Given the description of an element on the screen output the (x, y) to click on. 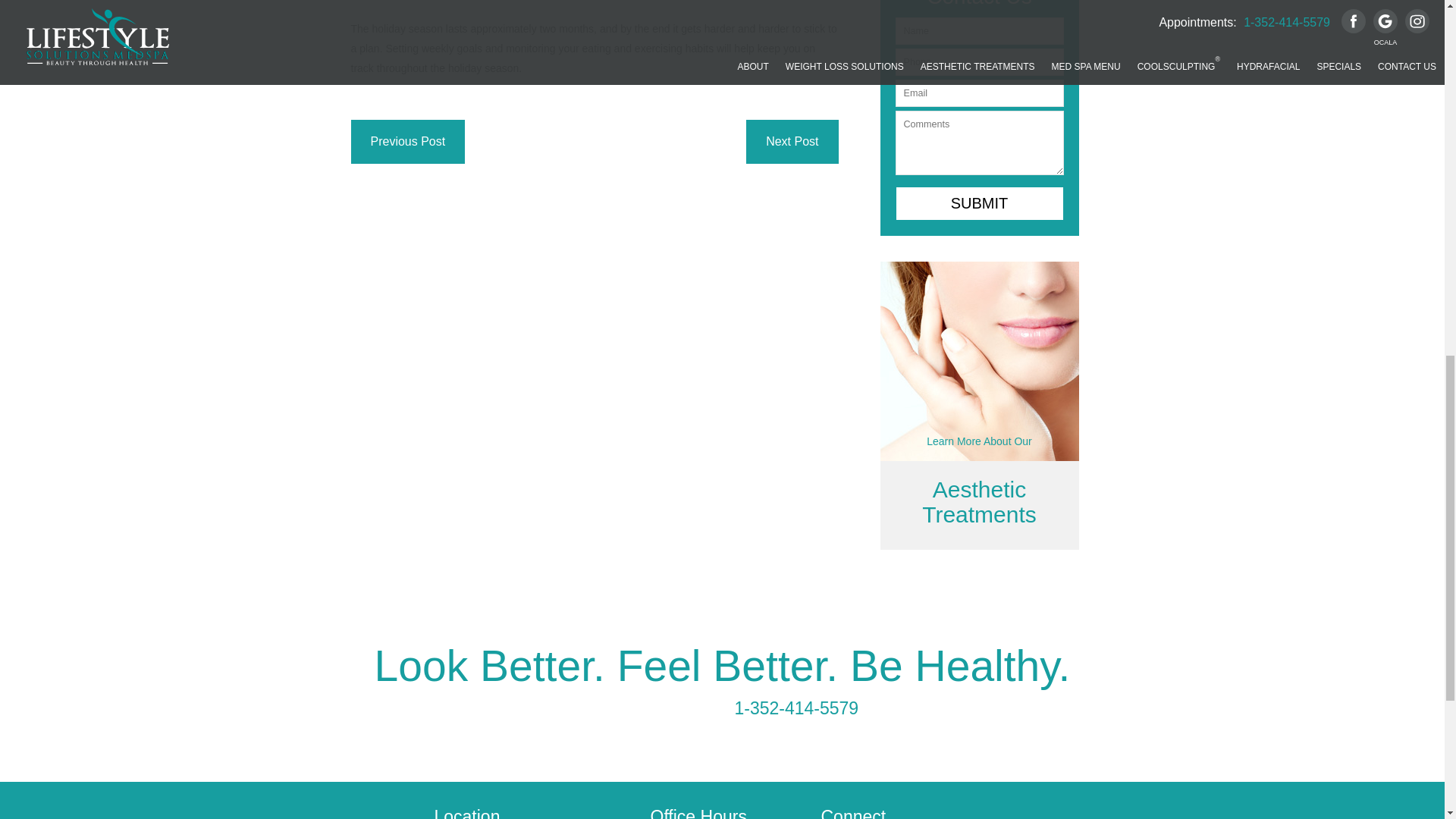
Submit (978, 203)
